Given the description of an element on the screen output the (x, y) to click on. 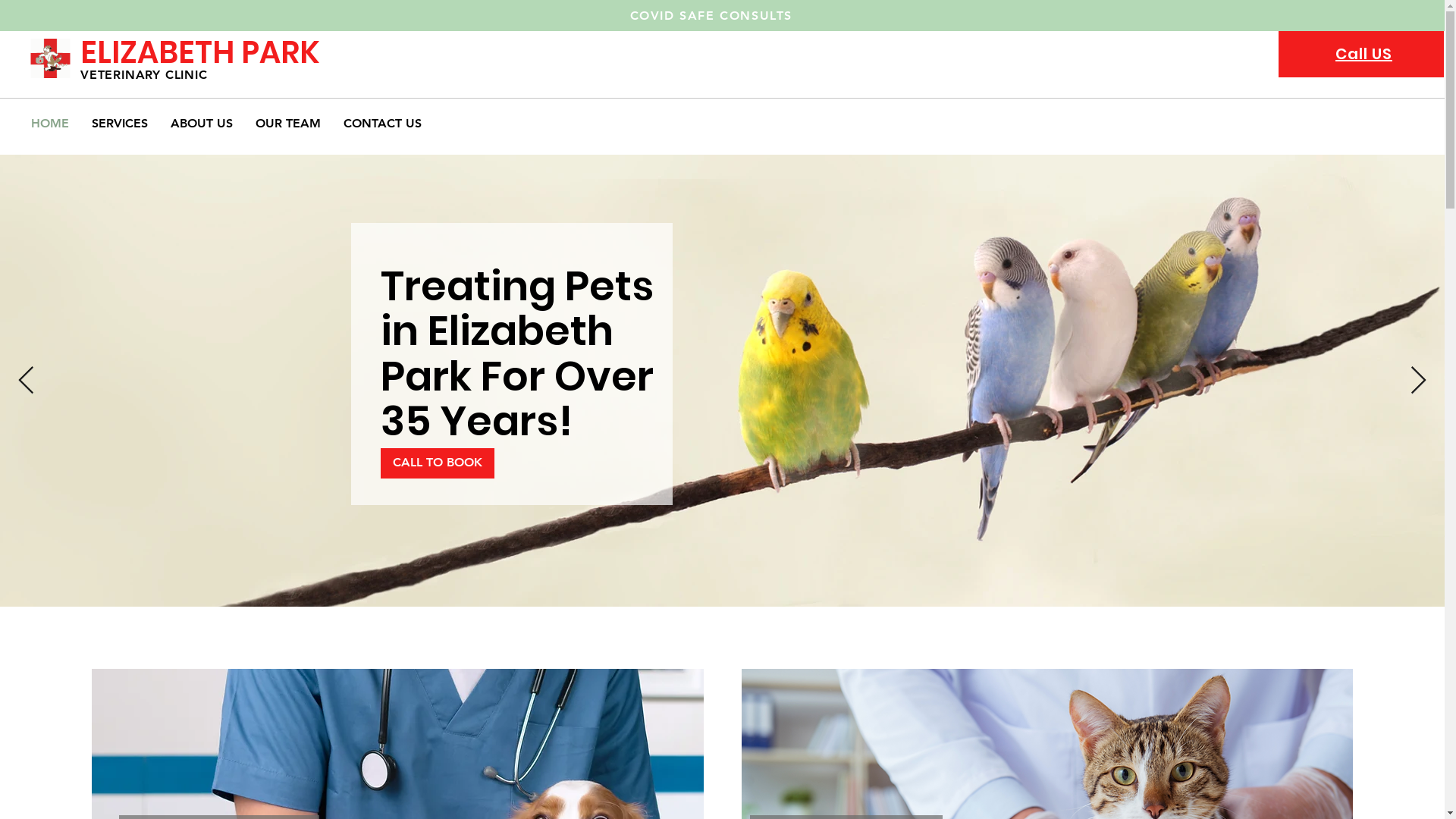
CALL TO BOOK Element type: text (437, 463)
VETERINARY CLINIC Element type: text (143, 74)
Call US Element type: text (1363, 53)
ELIZABETH PARK Element type: text (200, 52)
ABOUT US Element type: text (201, 123)
HOME Element type: text (49, 123)
OUR TEAM Element type: text (288, 123)
COVID SAFE CONSULTS  Element type: text (713, 15)
CONTACT US Element type: text (382, 123)
